Given the description of an element on the screen output the (x, y) to click on. 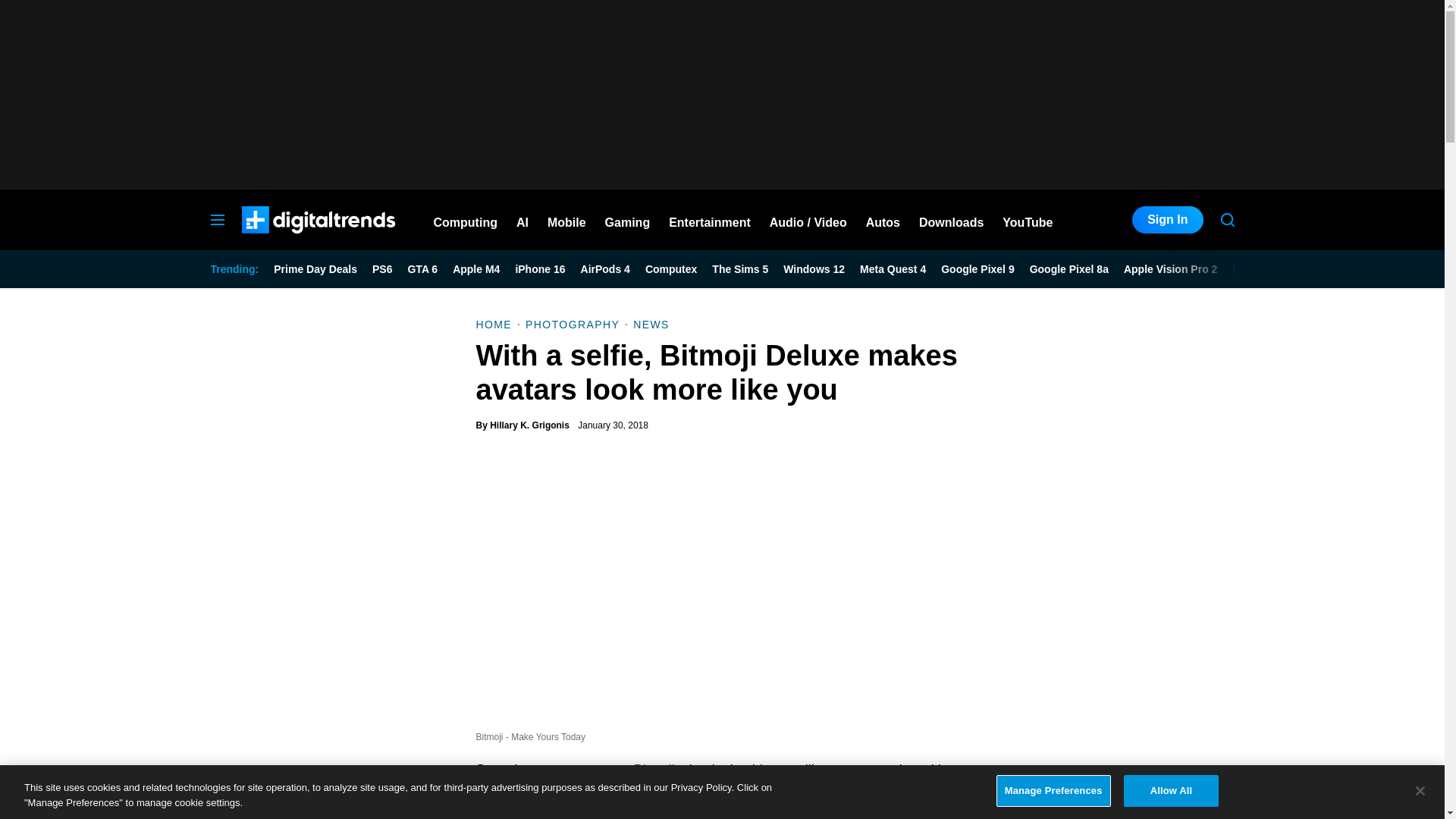
Computing (465, 219)
Sign In (1167, 219)
Downloads (951, 219)
Entertainment (709, 219)
